Given the description of an element on the screen output the (x, y) to click on. 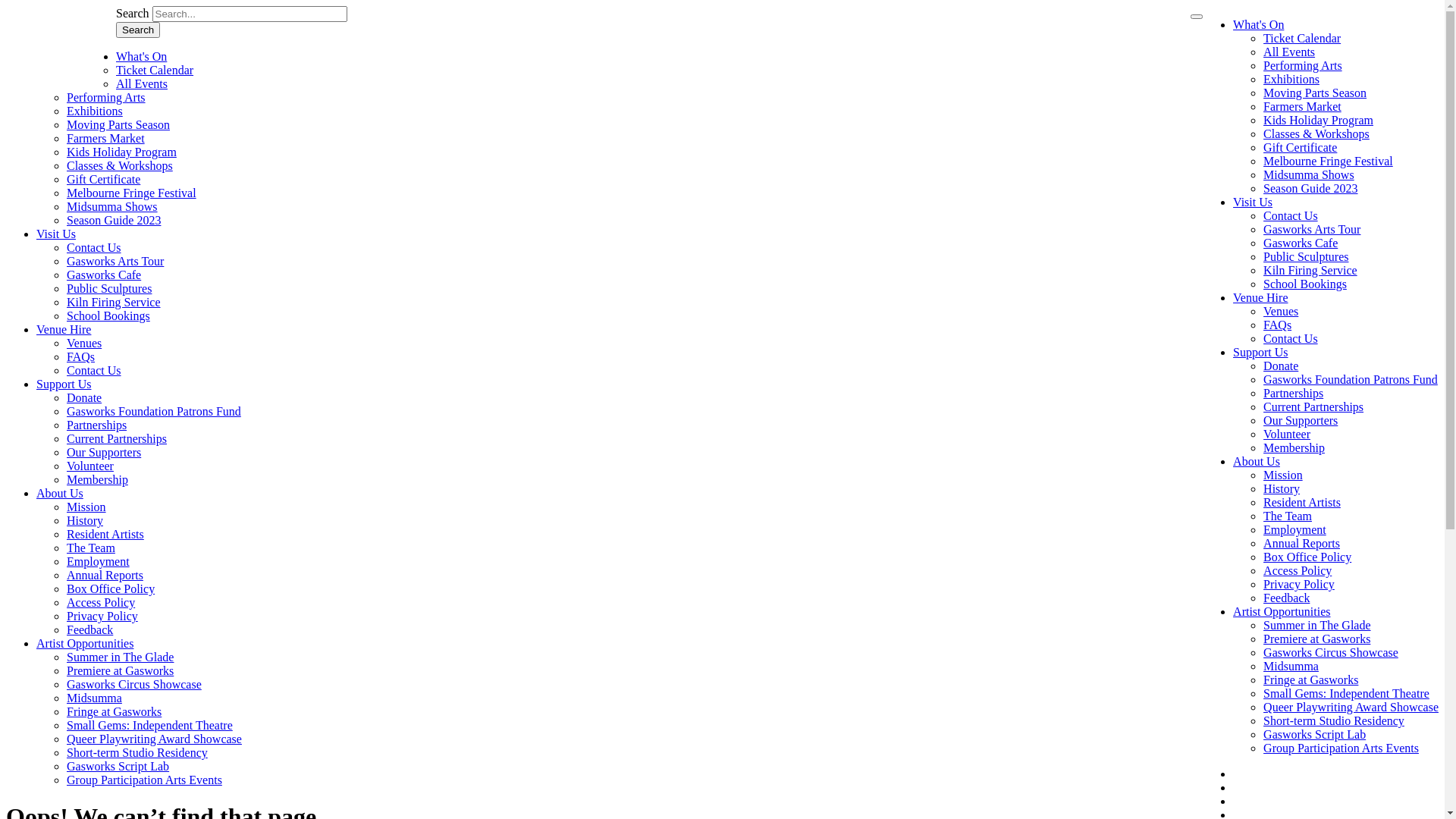
Artist Opportunities Element type: text (1281, 611)
Privacy Policy Element type: text (102, 615)
Menu Element type: text (1196, 16)
History Element type: text (84, 520)
Gift Certificate Element type: text (1299, 147)
Membership Element type: text (97, 479)
The Team Element type: text (90, 547)
Gasworks Arts Tour Element type: text (114, 260)
Resident Artists Element type: text (105, 533)
Support Us Element type: text (63, 383)
Season Guide 2023 Element type: text (113, 219)
Classes & Workshops Element type: text (1316, 133)
Box Office Policy Element type: text (110, 588)
What's On Element type: text (1258, 24)
Short-term Studio Residency Element type: text (1333, 720)
Employment Element type: text (1294, 529)
Visit Us Element type: text (55, 233)
Box Office Policy Element type: text (1307, 556)
Queer Playwriting Award Showcase Element type: text (153, 738)
Volunteer Element type: text (89, 465)
Kiln Firing Service Element type: text (113, 301)
Venues Element type: text (1280, 310)
Gasworks Foundation Patrons Fund Element type: text (153, 410)
Small Gems: Independent Theatre Element type: text (149, 724)
Queer Playwriting Award Showcase Element type: text (1350, 706)
School Bookings Element type: text (108, 315)
History Element type: text (1281, 488)
Feedback Element type: text (1286, 597)
Contact Us Element type: text (1290, 215)
Skip to main content Element type: text (6, 6)
About Us Element type: text (1256, 461)
Kiln Firing Service Element type: text (1310, 269)
Public Sculptures Element type: text (108, 288)
Our Supporters Element type: text (103, 451)
Privacy Policy Element type: text (1298, 583)
Donate Element type: text (83, 397)
Partnerships Element type: text (96, 424)
Mission Element type: text (86, 506)
Home Element type: hover (61, 77)
Membership Element type: text (1293, 447)
All Events Element type: text (1288, 51)
Season Guide 2023 Element type: text (1310, 188)
Gift Certificate Element type: text (103, 178)
Gasworks Circus Showcase Element type: text (133, 683)
Search Element type: text (138, 29)
School Bookings Element type: text (1304, 283)
Kids Holiday Program Element type: text (121, 151)
Our Supporters Element type: text (1300, 420)
Contact Us Element type: text (93, 247)
Group Participation Arts Events Element type: text (1340, 747)
Gasworks Cafe Element type: text (103, 274)
Venues Element type: text (83, 342)
Small Gems: Independent Theatre Element type: text (1346, 693)
Premiere at Gasworks Element type: text (1316, 638)
Midsumma Shows Element type: text (1308, 174)
Annual Reports Element type: text (104, 574)
About Us Element type: text (59, 492)
Midsumma Shows Element type: text (111, 206)
Classes & Workshops Element type: text (119, 165)
Gasworks Cafe Element type: text (1300, 242)
Performing Arts Element type: text (105, 97)
Farmers Market Element type: text (1302, 106)
Kids Holiday Program Element type: text (1318, 119)
Farmers Market Element type: text (105, 137)
Gasworks Circus Showcase Element type: text (1330, 652)
Access Policy Element type: text (100, 602)
Exhibitions Element type: text (94, 110)
Gasworks Script Lab Element type: text (117, 765)
All Events Element type: text (141, 83)
Short-term Studio Residency Element type: text (136, 752)
Venue Hire Element type: text (1260, 297)
Moving Parts Season Element type: text (1314, 92)
Visit Us Element type: text (1252, 201)
Summer in The Glade Element type: text (1316, 624)
Premiere at Gasworks Element type: text (119, 670)
Donate Element type: text (1280, 365)
Public Sculptures Element type: text (1305, 256)
Volunteer Element type: text (1286, 433)
Midsumma Element type: text (94, 697)
Midsumma Element type: text (1290, 665)
Contact Us Element type: text (1290, 338)
FAQs Element type: text (80, 356)
Artist Opportunities Element type: text (84, 643)
Gasworks Foundation Patrons Fund Element type: text (1350, 379)
Current Partnerships Element type: text (116, 438)
Current Partnerships Element type: text (1313, 406)
Group Participation Arts Events Element type: text (144, 779)
Fringe at Gasworks Element type: text (113, 711)
Employment Element type: text (97, 561)
Contact Us Element type: text (93, 370)
Gasworks Script Lab Element type: text (1314, 734)
Moving Parts Season Element type: text (117, 124)
Exhibitions Element type: text (1291, 78)
Access Policy Element type: text (1297, 570)
Resident Artists Element type: text (1301, 501)
Ticket Calendar Element type: text (1301, 37)
Support Us Element type: text (1260, 351)
What's On Element type: text (141, 56)
Ticket Calendar Element type: text (154, 69)
Annual Reports Element type: text (1301, 542)
Feedback Element type: text (89, 629)
Mission Element type: text (1282, 474)
Melbourne Fringe Festival Element type: text (1328, 160)
FAQs Element type: text (1277, 324)
The Team Element type: text (1287, 515)
Partnerships Element type: text (1293, 392)
Venue Hire Element type: text (63, 329)
Melbourne Fringe Festival Element type: text (131, 192)
Summer in The Glade Element type: text (119, 656)
Performing Arts Element type: text (1302, 65)
Fringe at Gasworks Element type: text (1310, 679)
Gasworks Arts Tour Element type: text (1311, 228)
